Given the description of an element on the screen output the (x, y) to click on. 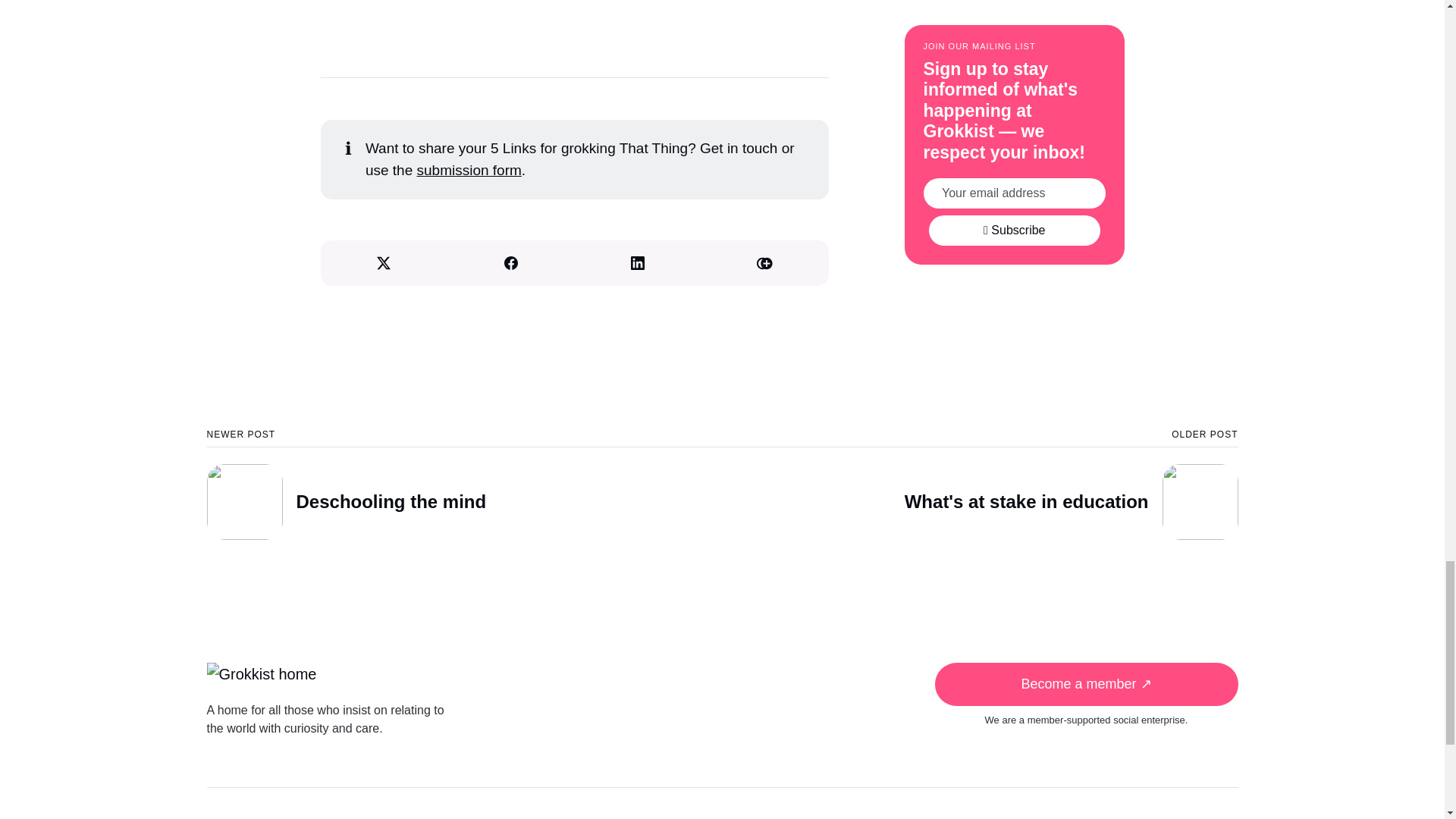
submission form (464, 483)
